Given the description of an element on the screen output the (x, y) to click on. 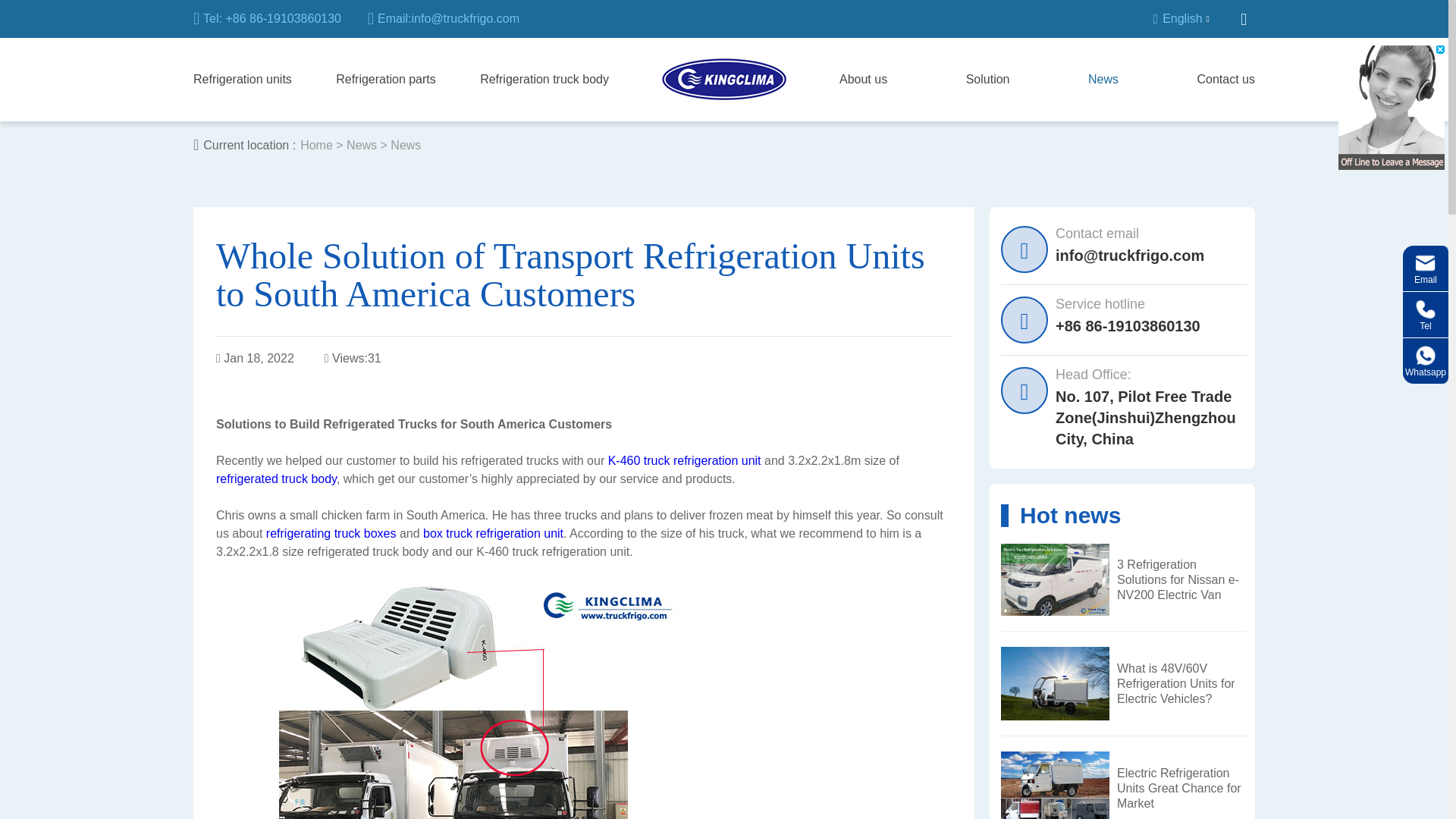
Refrigeration parts (385, 79)
Refrigeration units (242, 79)
Refrigeration truck body (544, 79)
